Given the description of an element on the screen output the (x, y) to click on. 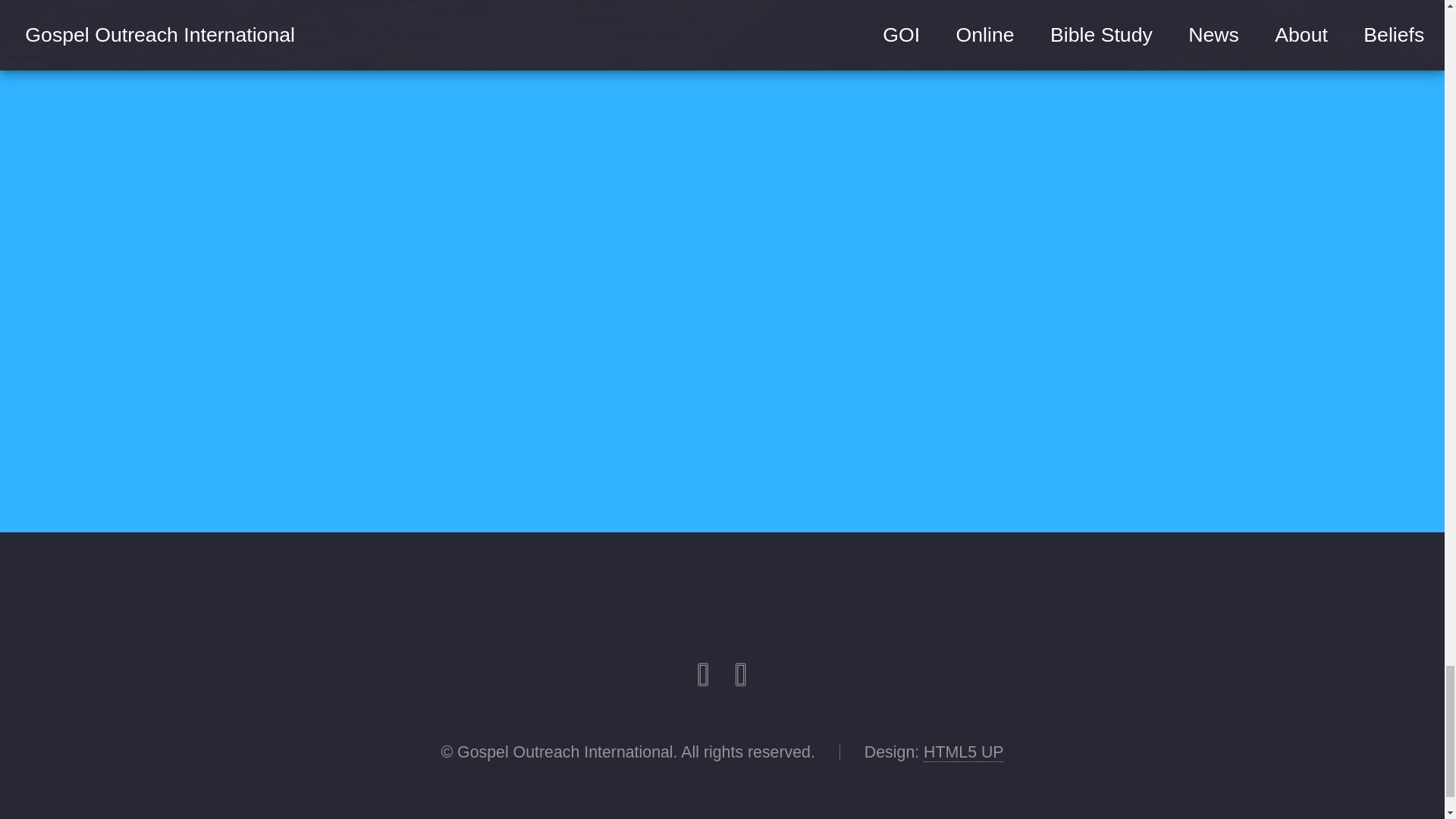
HTML5 UP (963, 752)
Get Started (966, 380)
